Given the description of an element on the screen output the (x, y) to click on. 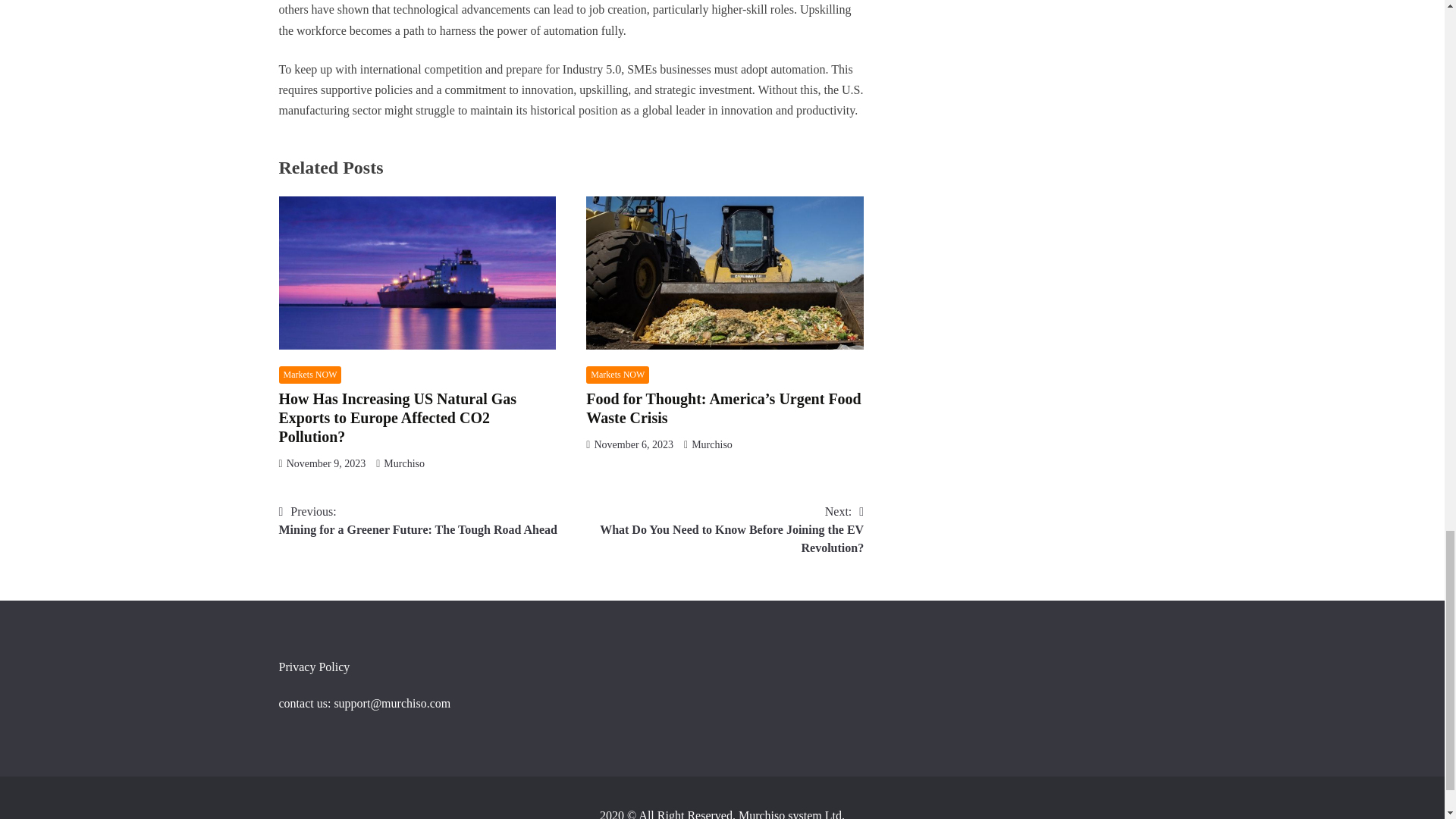
November 6, 2023 (633, 444)
Markets NOW (310, 375)
November 9, 2023 (418, 520)
Privacy Policy (326, 463)
Murchiso (314, 666)
Markets NOW (711, 444)
Murchiso (617, 375)
